Given the description of an element on the screen output the (x, y) to click on. 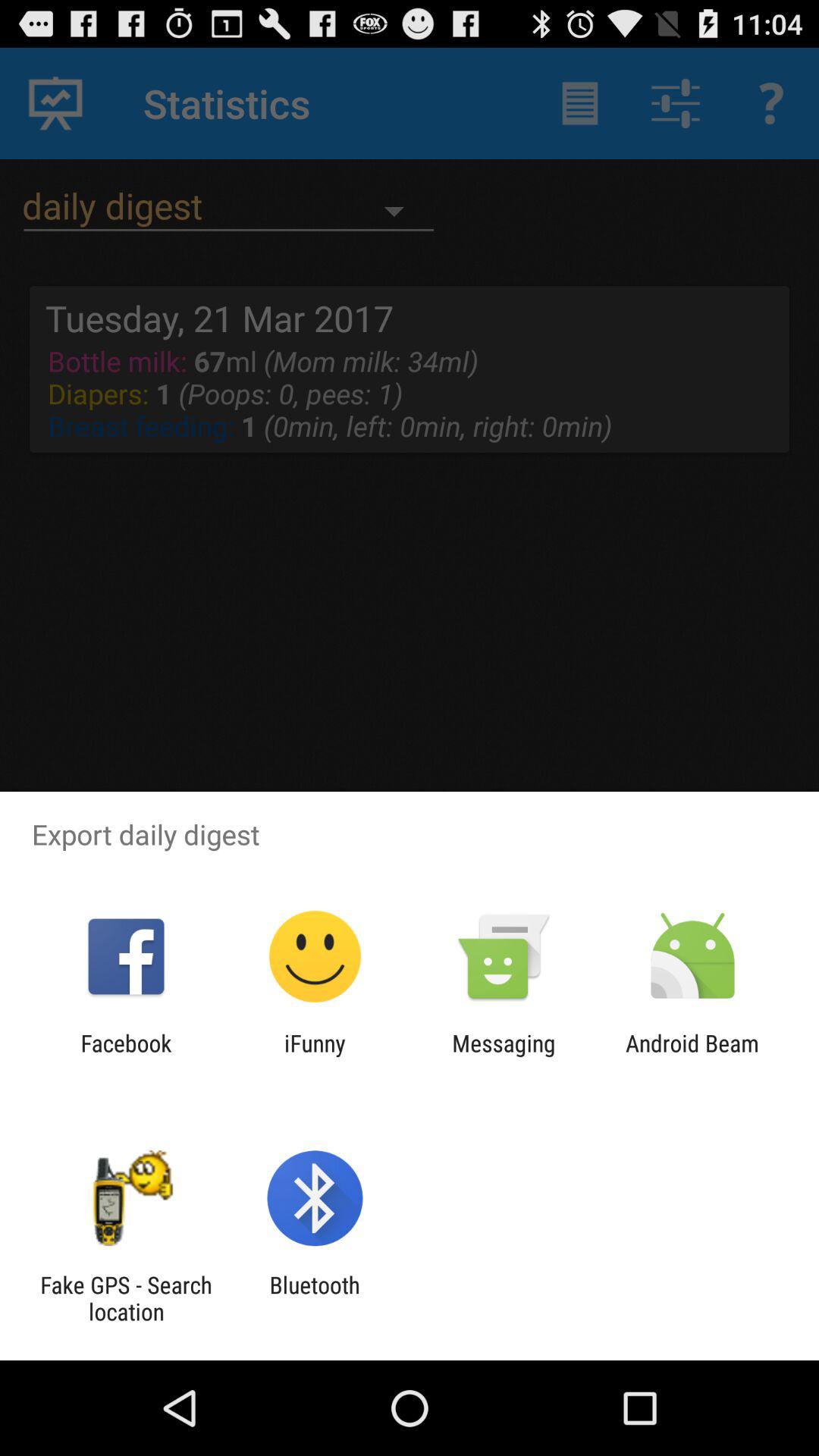
turn off the messaging item (503, 1056)
